Given the description of an element on the screen output the (x, y) to click on. 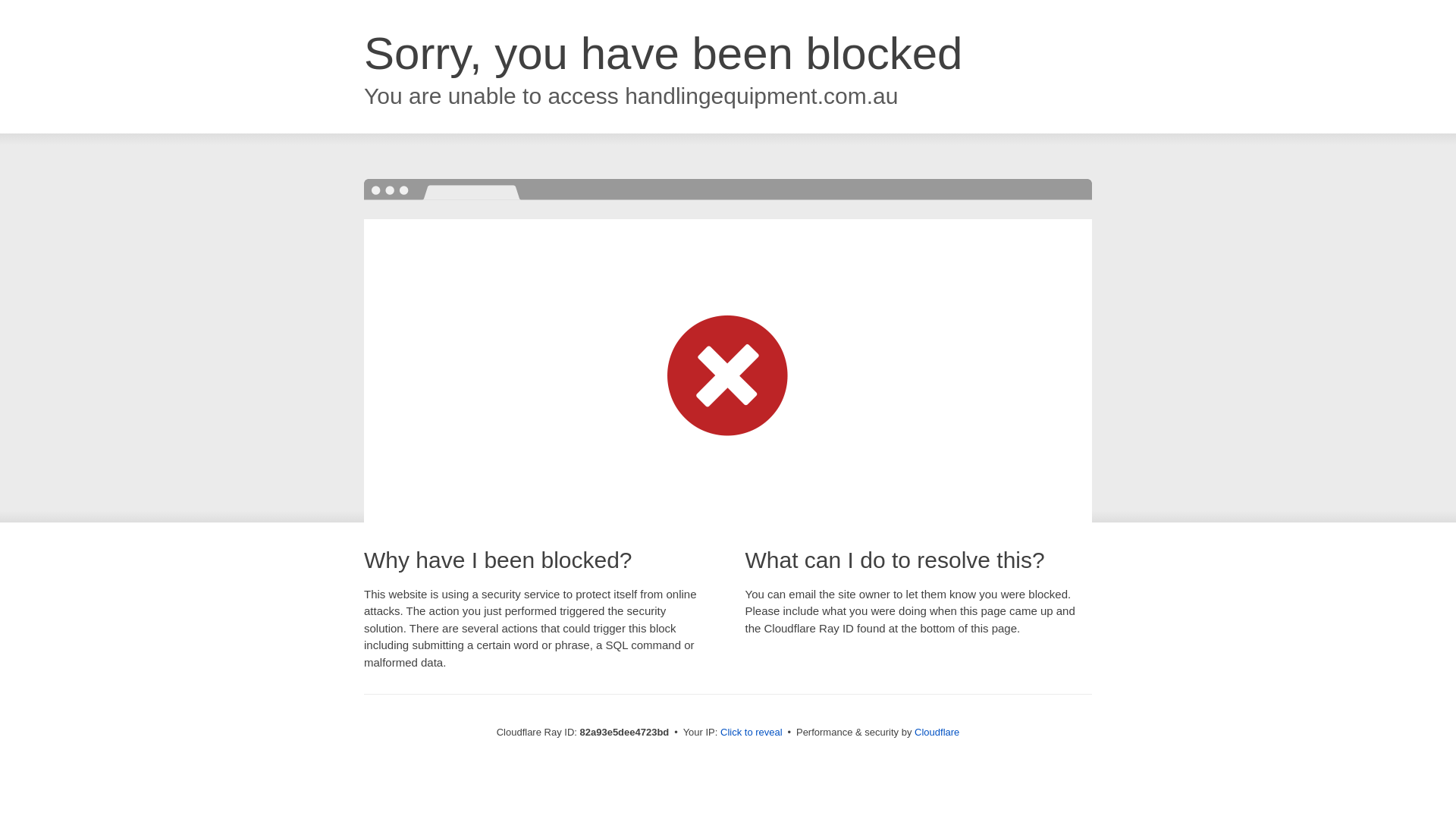
Click to reveal Element type: text (751, 732)
Cloudflare Element type: text (936, 731)
